Given the description of an element on the screen output the (x, y) to click on. 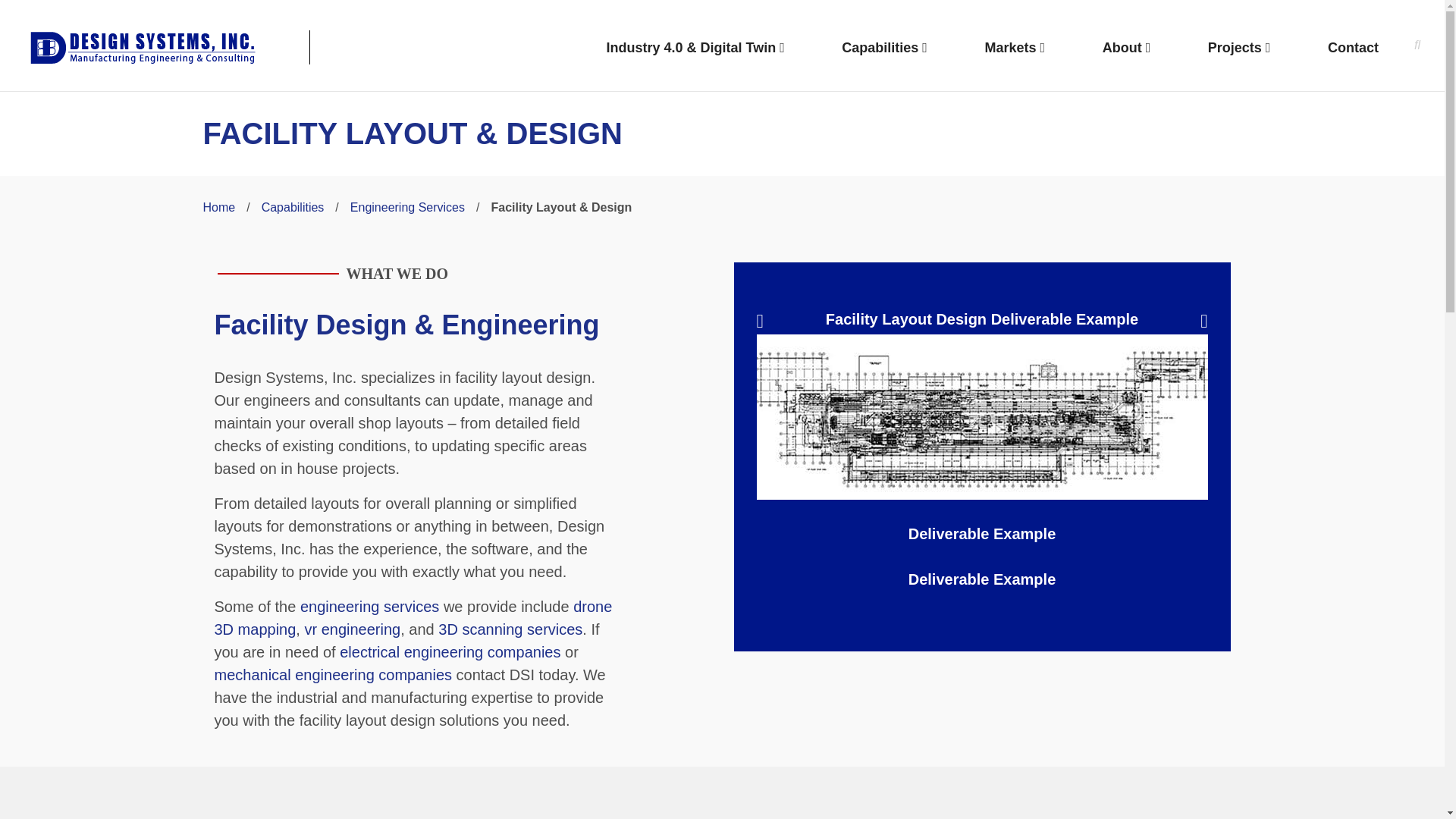
Capabilities (884, 48)
Capabilities (293, 206)
Markets (1014, 48)
Home (219, 206)
Projects (1238, 48)
About (1126, 48)
Contact (1353, 48)
Engineering Services (407, 206)
